Given the description of an element on the screen output the (x, y) to click on. 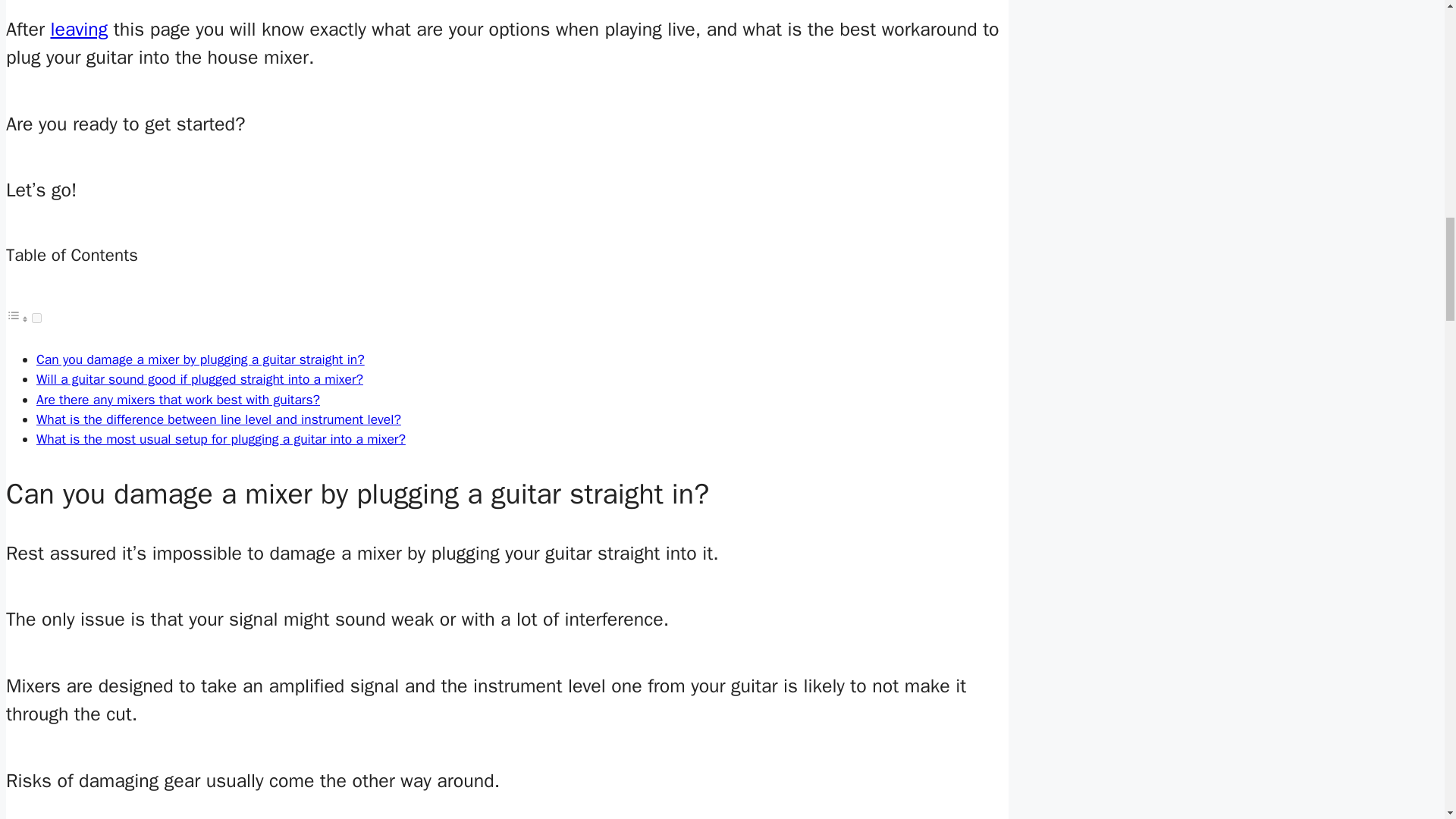
Can you damage a mixer by plugging a guitar straight in? (200, 359)
Will a guitar sound good if plugged straight into a mixer? (199, 379)
Can you damage a mixer by plugging a guitar straight in? (200, 359)
leaving (78, 28)
on (37, 317)
Will a guitar sound good if plugged straight into a mixer? (199, 379)
Are there any mixers that work best with guitars? (178, 399)
Are there any mixers that work best with guitars? (178, 399)
